Given the description of an element on the screen output the (x, y) to click on. 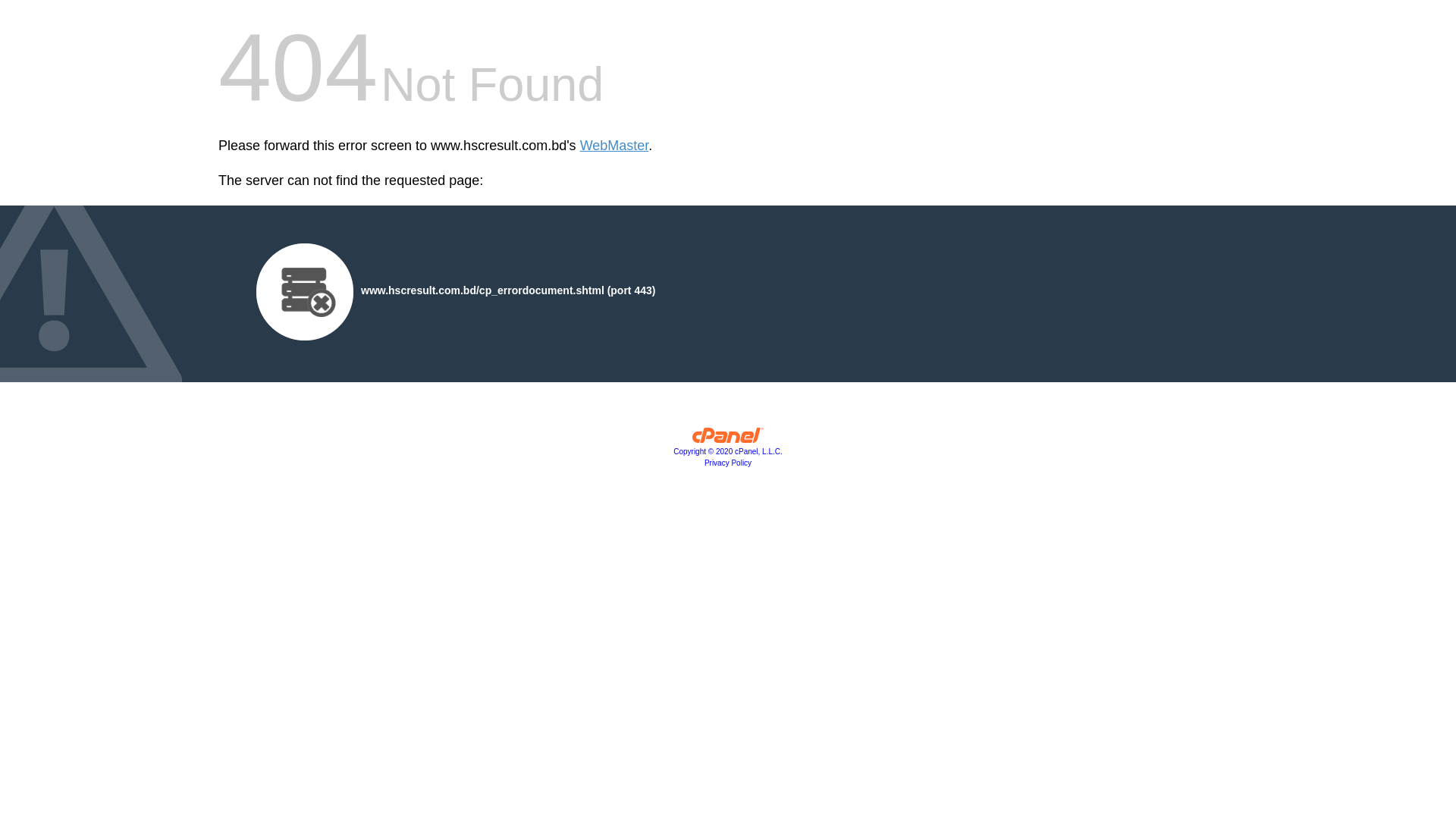
WebMaster Element type: text (614, 145)
cPanel, Inc. Element type: hover (728, 439)
Privacy Policy Element type: text (727, 462)
